Given the description of an element on the screen output the (x, y) to click on. 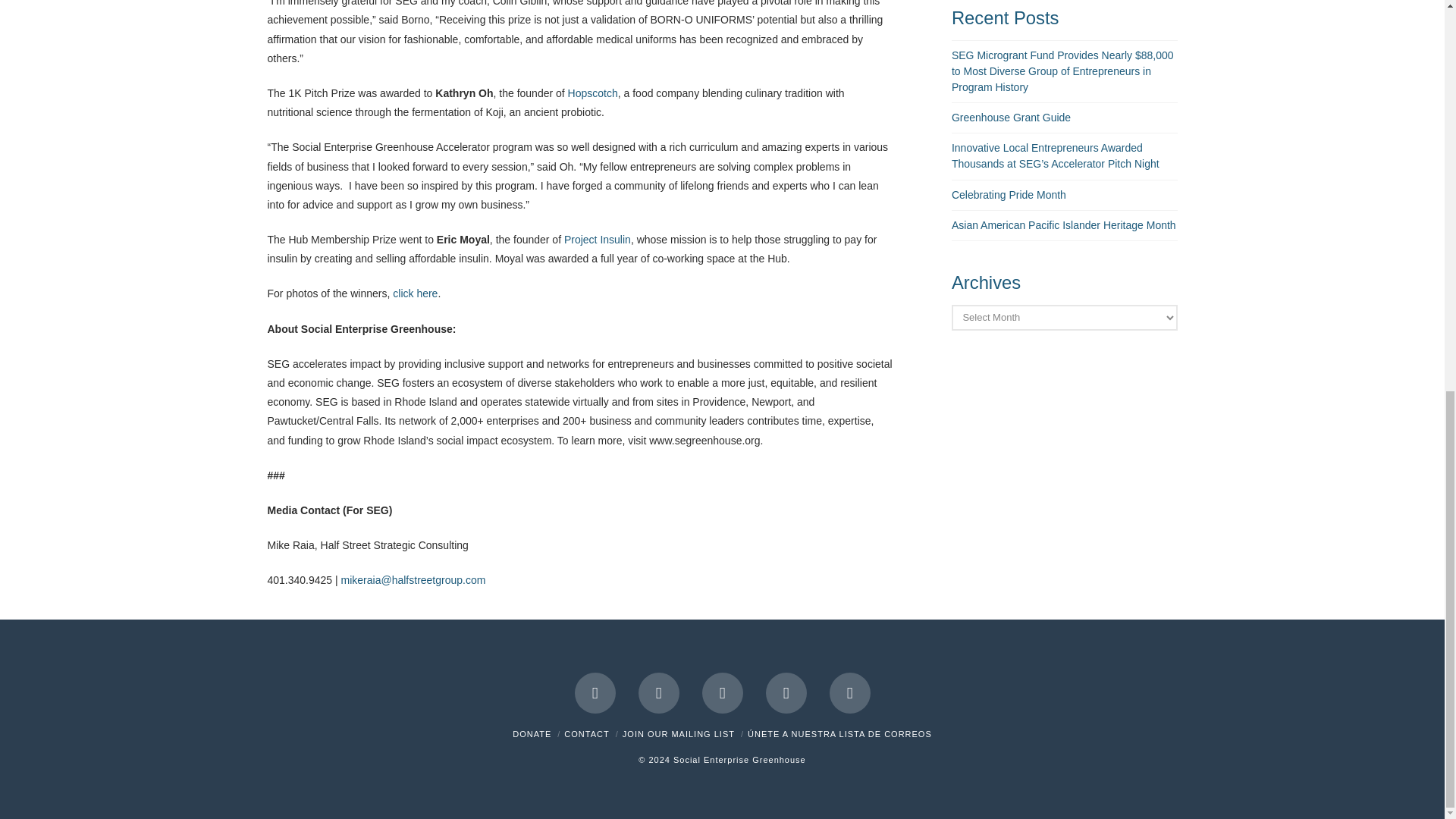
Instagram (849, 692)
LinkedIn (721, 692)
YouTube (785, 692)
Facebook (595, 692)
